Given the description of an element on the screen output the (x, y) to click on. 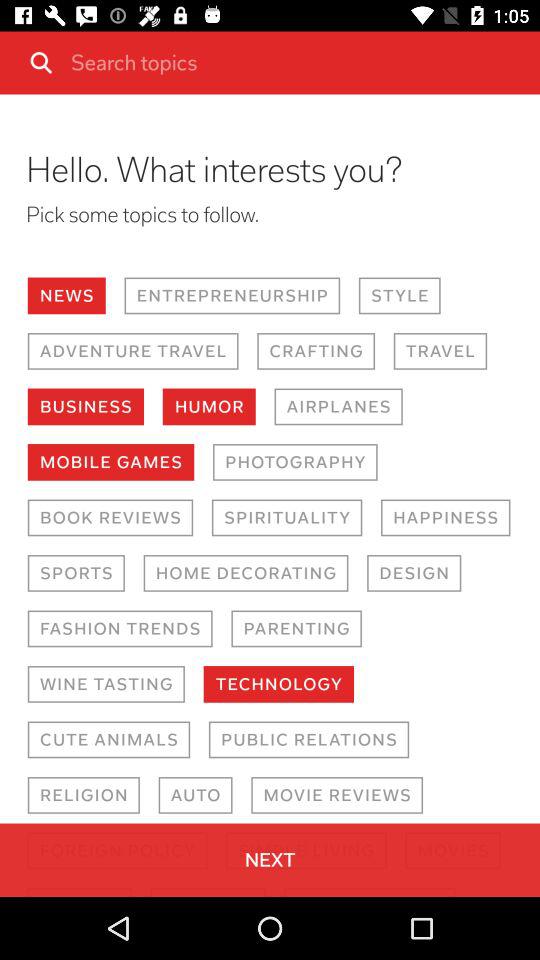
turn on item next to the spirituality icon (110, 517)
